Given the description of an element on the screen output the (x, y) to click on. 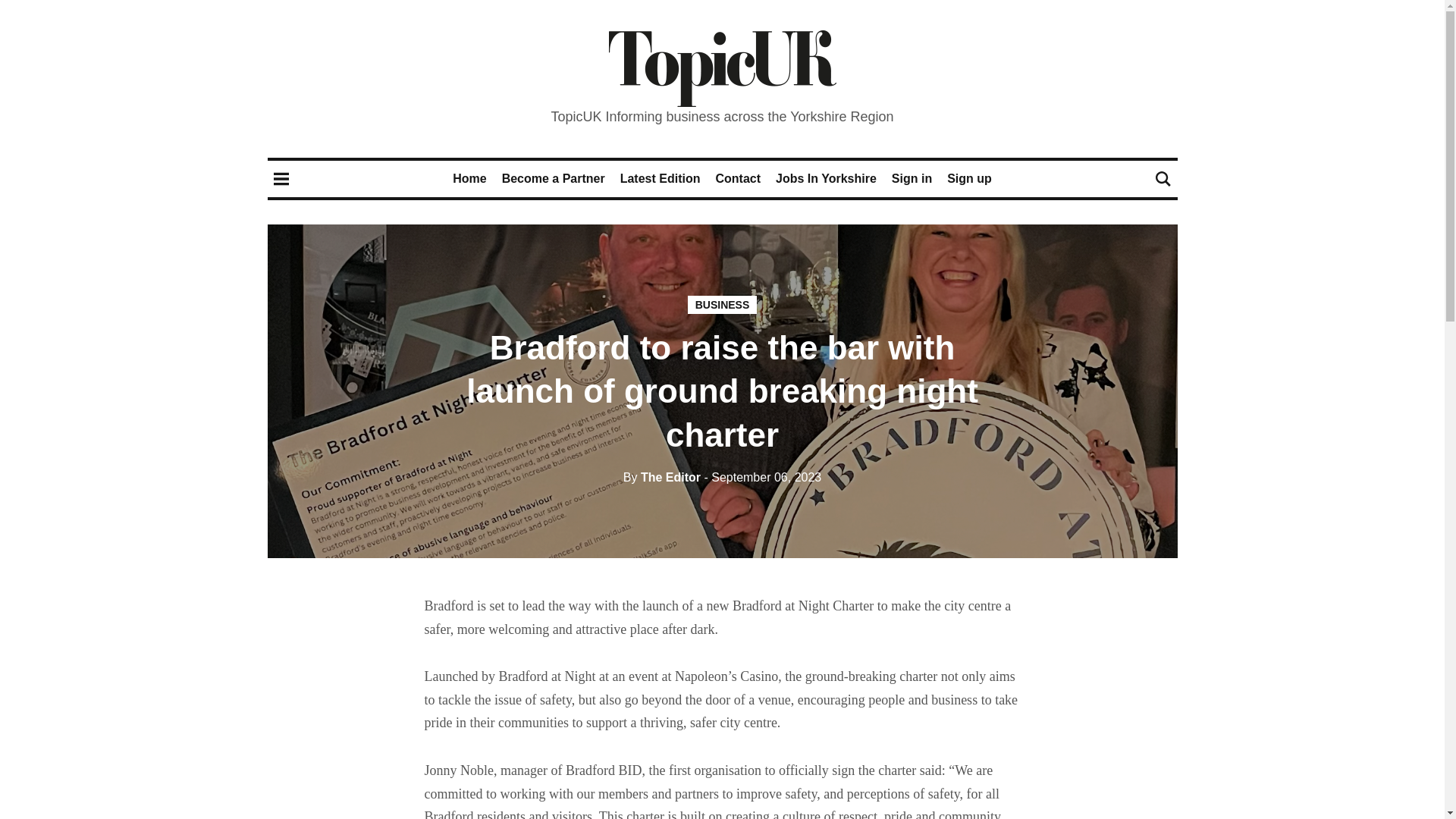
Jobs In Yorkshire (826, 178)
Sign in (911, 178)
Home (469, 178)
06 September, 2023 (762, 477)
Become a Partner (553, 178)
BUSINESS (722, 304)
Contact (737, 178)
By The Editor (661, 477)
Sign up (969, 178)
Latest Edition (660, 178)
